Given the description of an element on the screen output the (x, y) to click on. 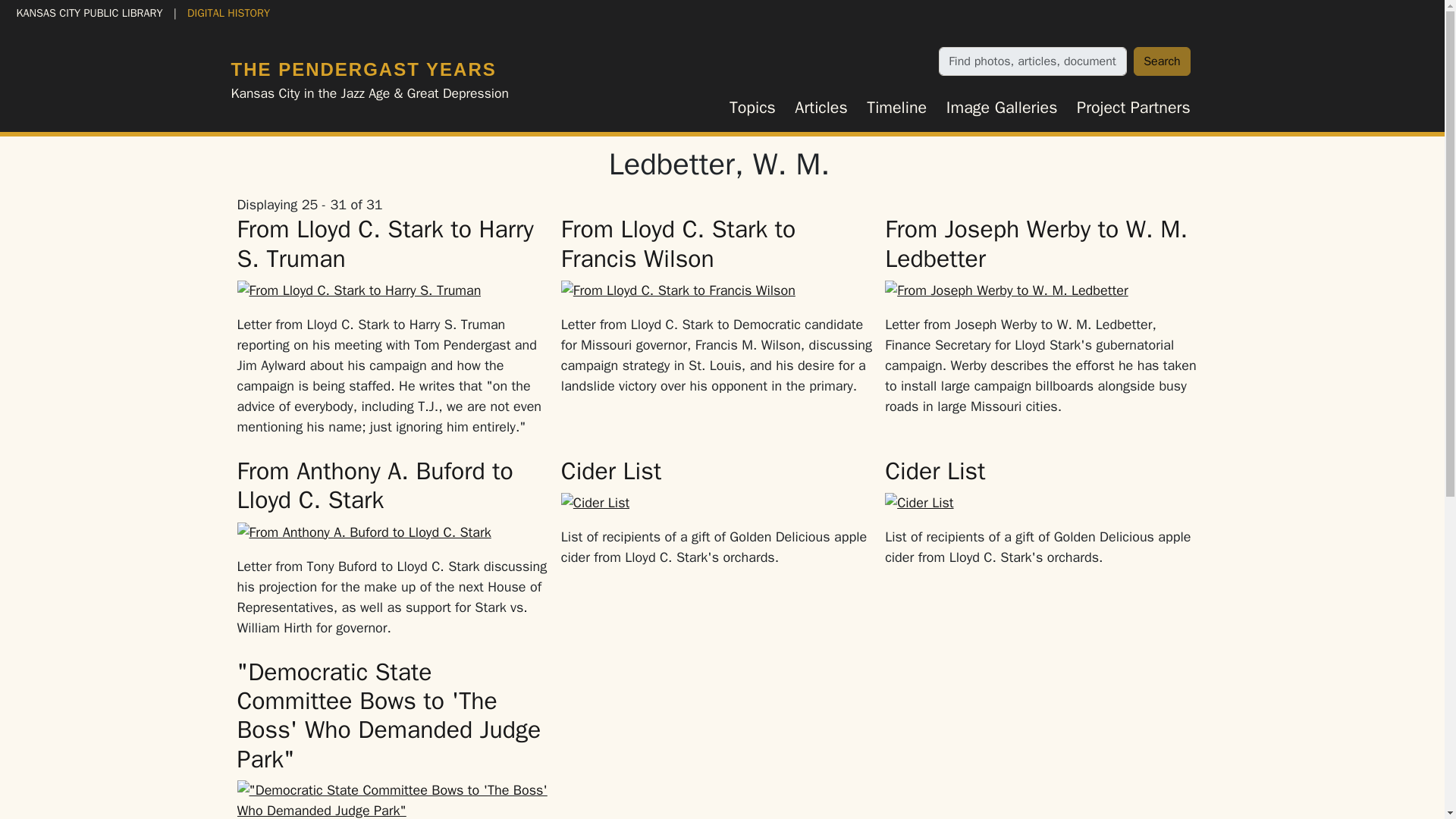
From Joseph Werby to W. M. Ledbetter (1036, 243)
Topics (751, 107)
Search (1162, 61)
DIGITAL HISTORY (228, 12)
Search (1162, 61)
Skip to main content (67, 11)
Timeline (897, 107)
From Lloyd C. Stark to Francis Wilson (677, 243)
THE PENDERGAST YEARS (363, 68)
